Given the description of an element on the screen output the (x, y) to click on. 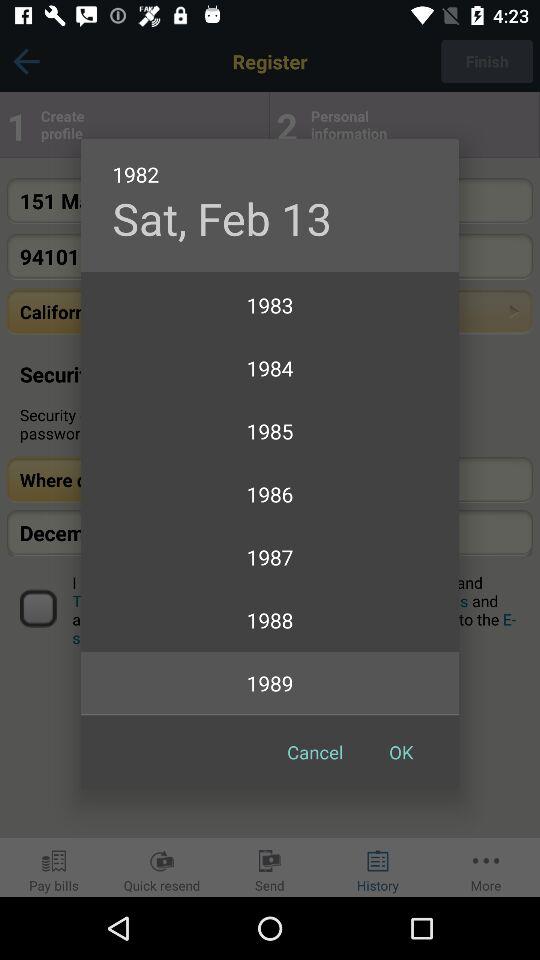
turn on the item to the right of the cancel (401, 751)
